Given the description of an element on the screen output the (x, y) to click on. 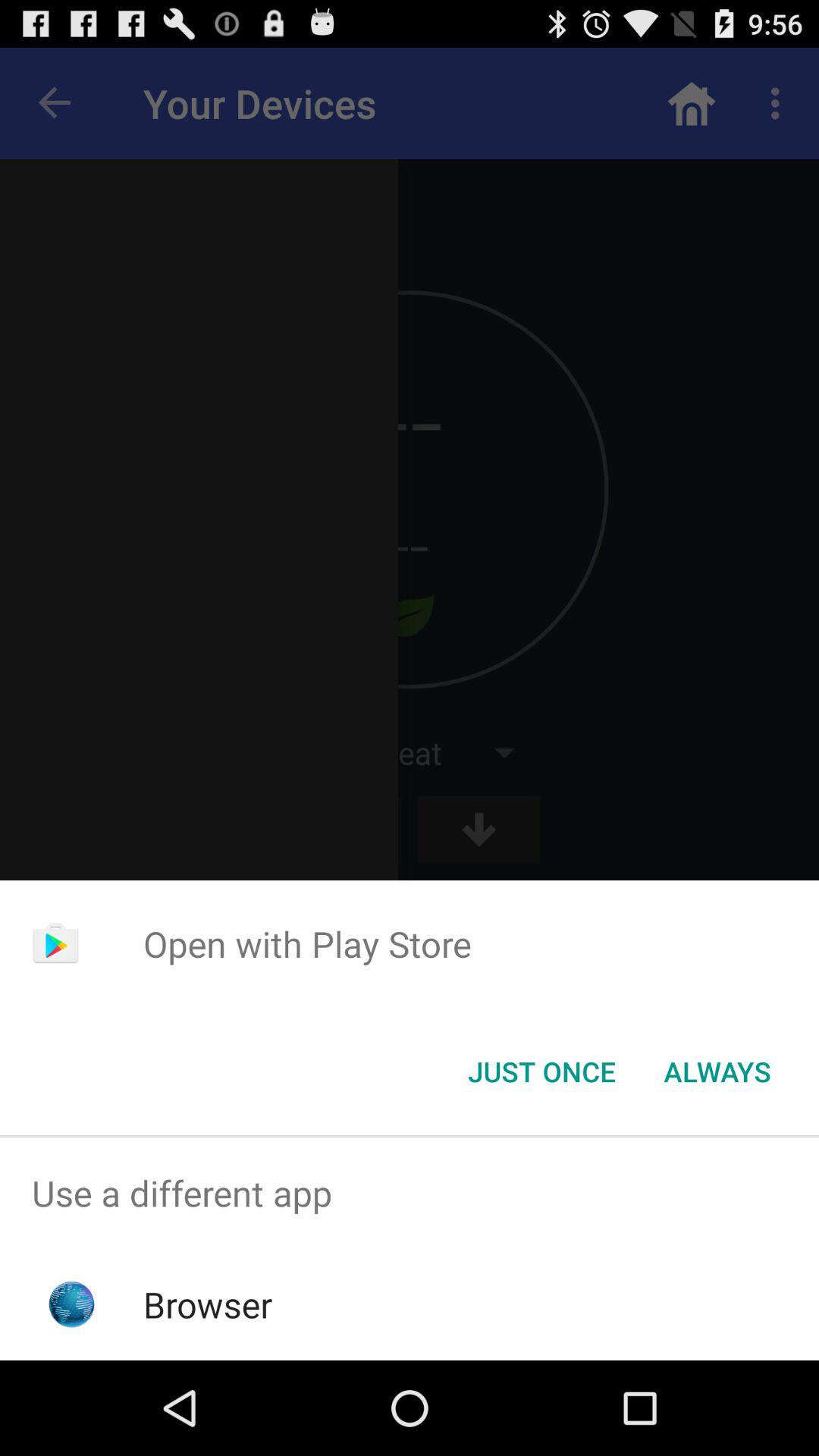
turn off browser app (207, 1304)
